Given the description of an element on the screen output the (x, y) to click on. 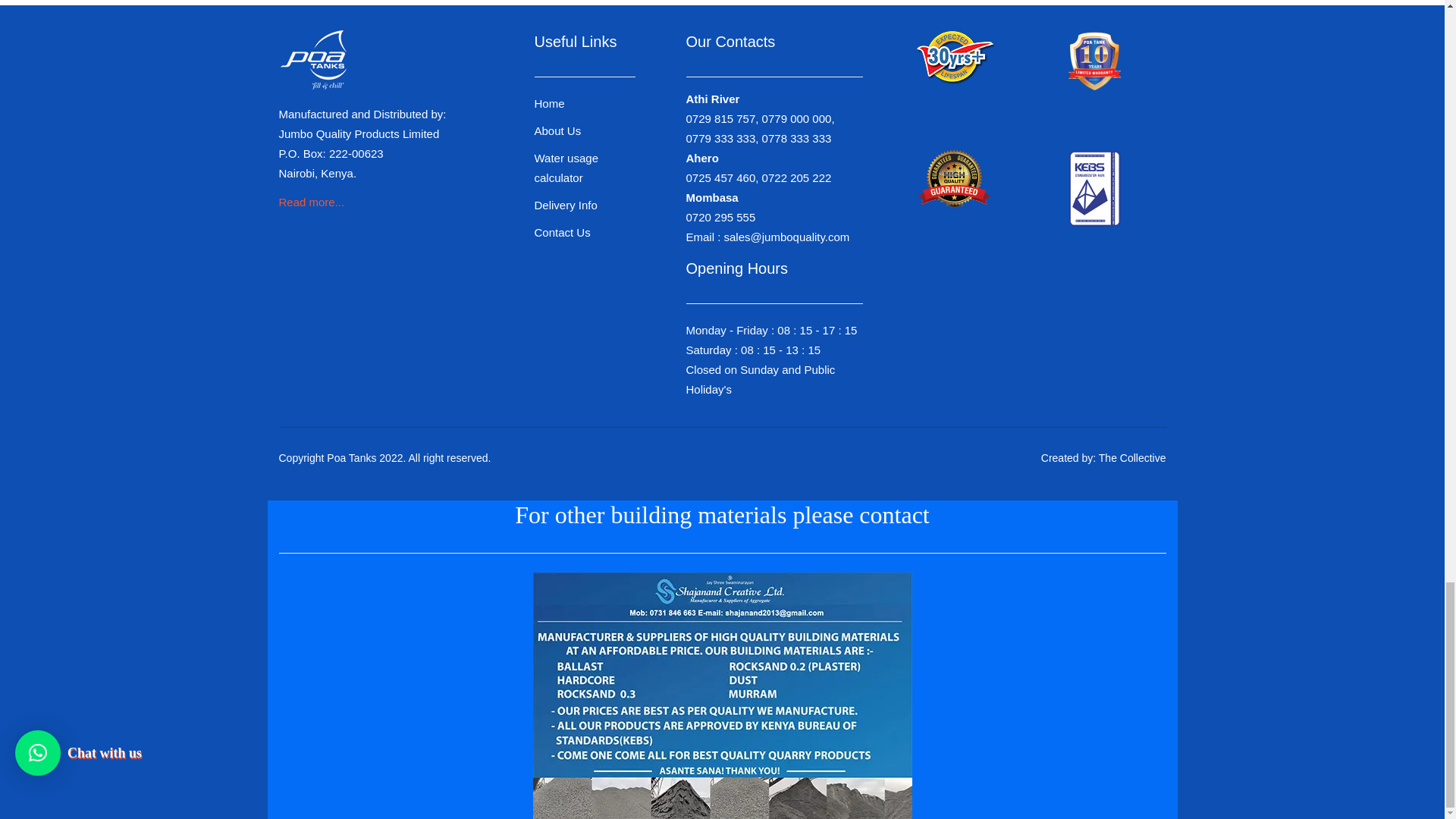
Home (549, 103)
Read more... (312, 201)
